Given the description of an element on the screen output the (x, y) to click on. 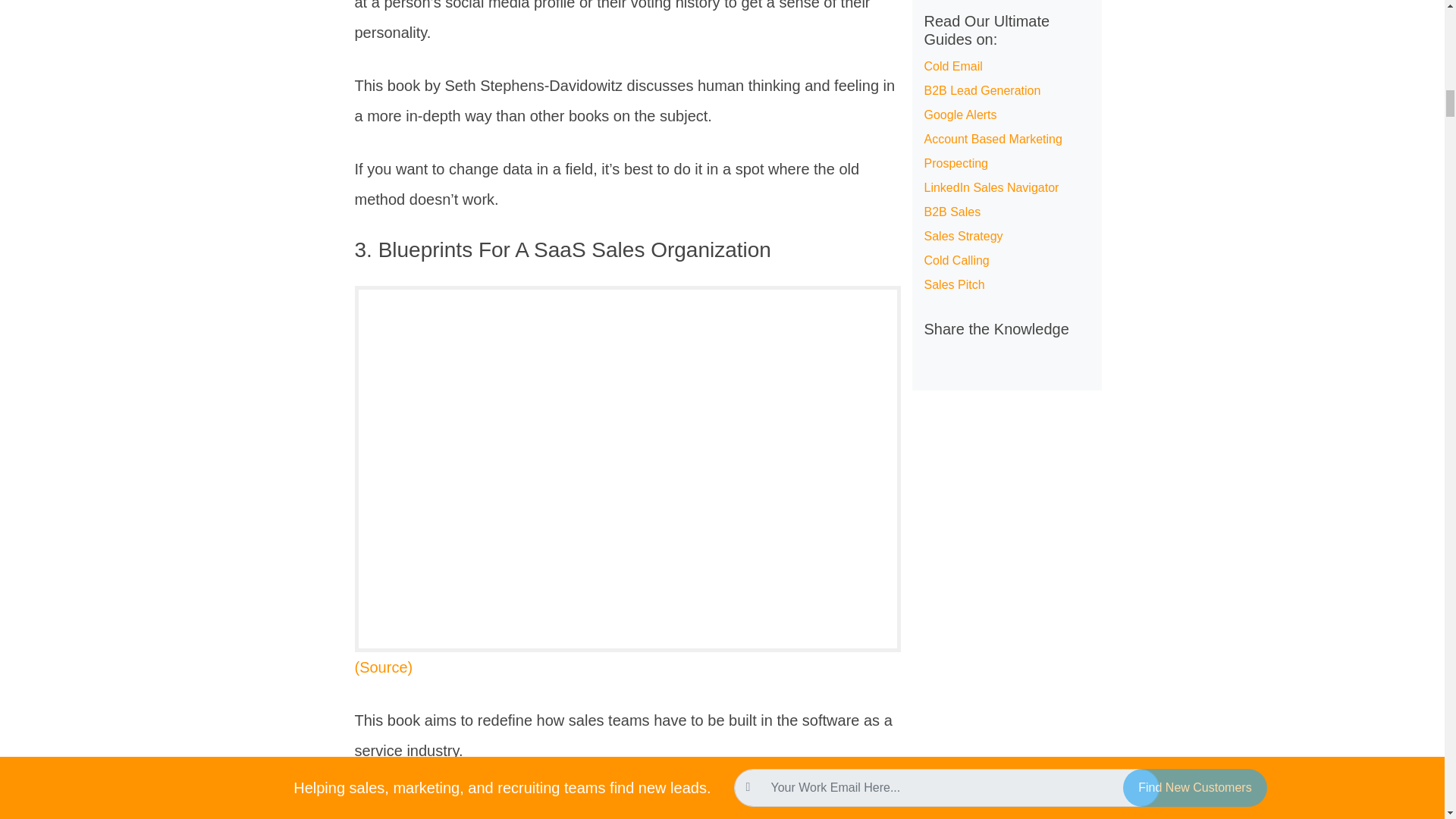
sales team (584, 803)
Sales Team (584, 803)
